Given the description of an element on the screen output the (x, y) to click on. 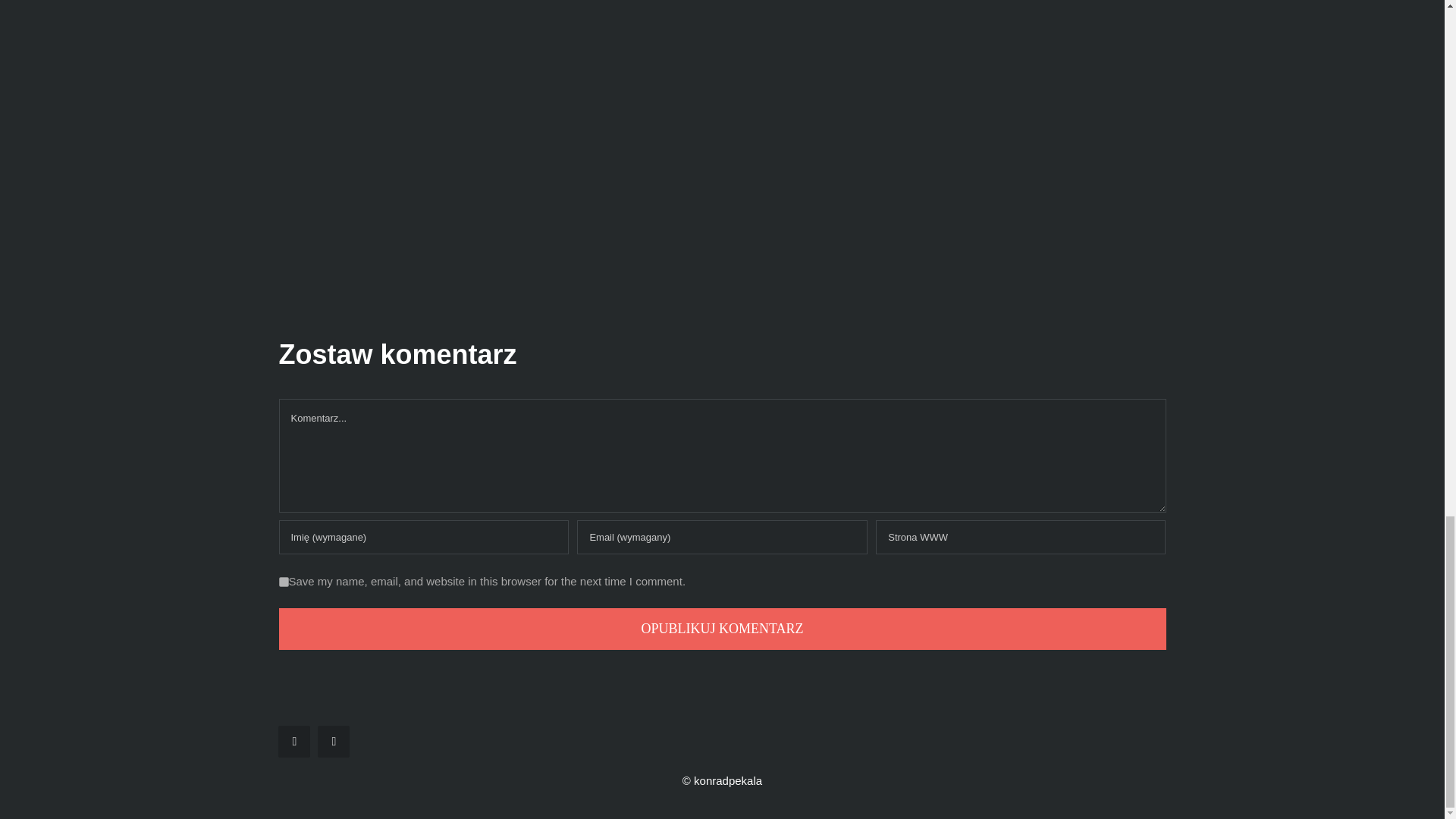
Facebook (294, 741)
Opublikuj komentarz (722, 629)
Phone (333, 741)
Opublikuj komentarz (722, 629)
yes (283, 582)
